Given the description of an element on the screen output the (x, y) to click on. 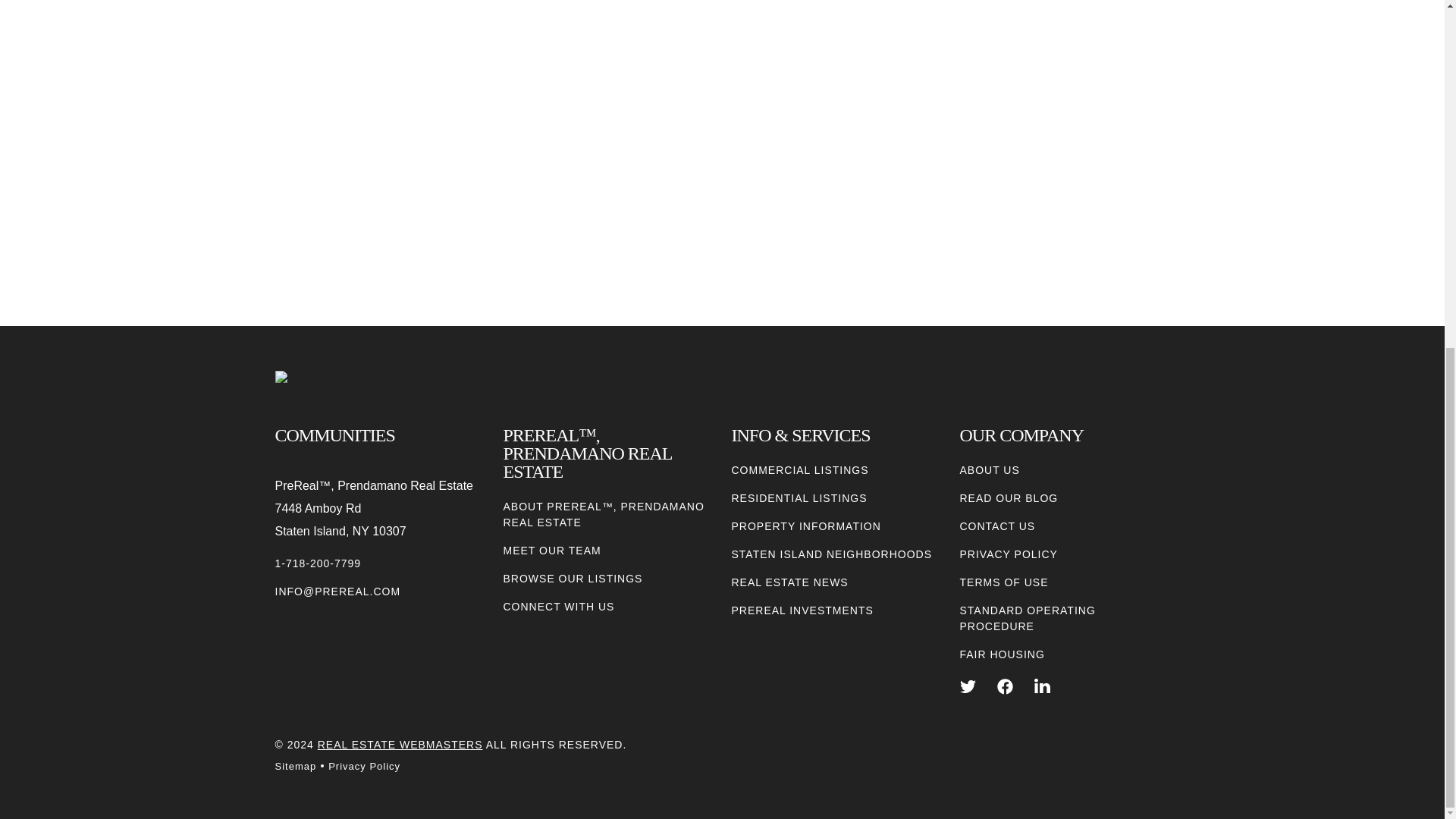
LINKEDIN (1041, 686)
TWITTER (967, 686)
FACEBOOK (1005, 686)
